Given the description of an element on the screen output the (x, y) to click on. 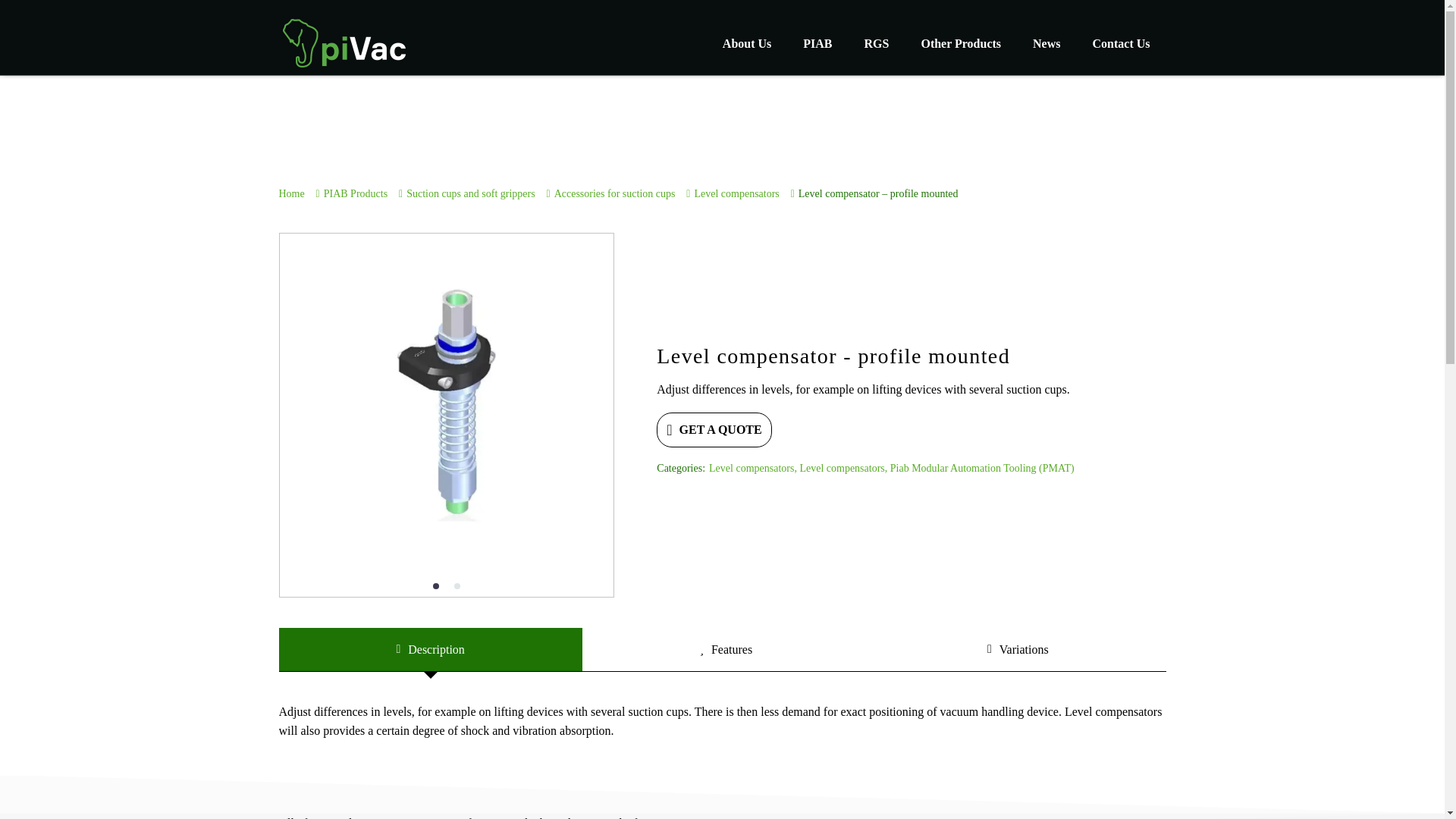
Other Products (960, 42)
News (1045, 42)
PIAB (817, 42)
RGS (876, 42)
Contact Us (1120, 42)
About Us (746, 42)
